Given the description of an element on the screen output the (x, y) to click on. 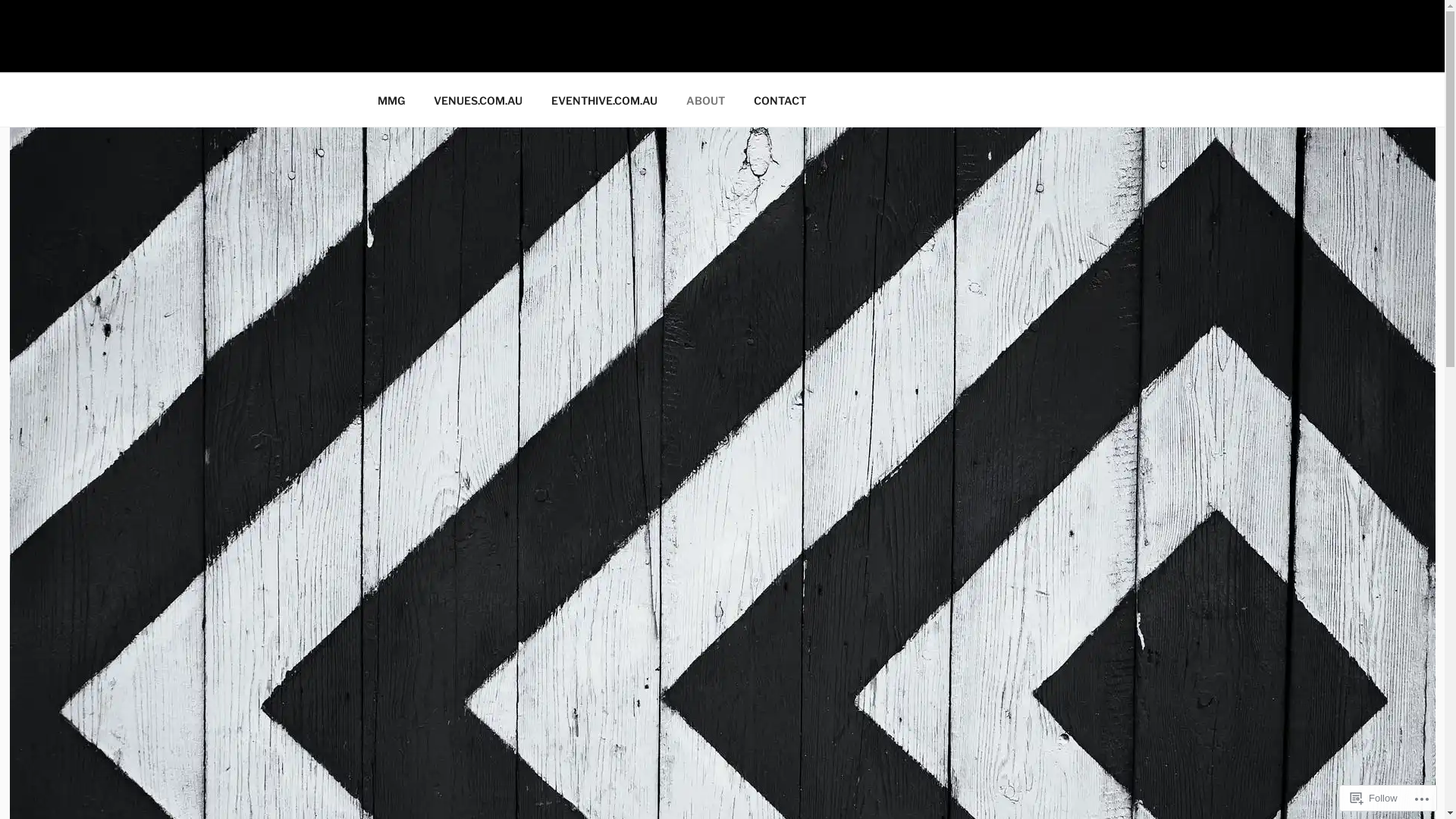
ABOUT Element type: text (705, 100)
MMG Element type: text (390, 100)
Follow Element type: text (1373, 797)
EVENTHIVE.COM.AU Element type: text (604, 100)
VENUES.COM.AU Element type: text (477, 100)
MMG Element type: text (76, 52)
CONTACT Element type: text (779, 100)
